Given the description of an element on the screen output the (x, y) to click on. 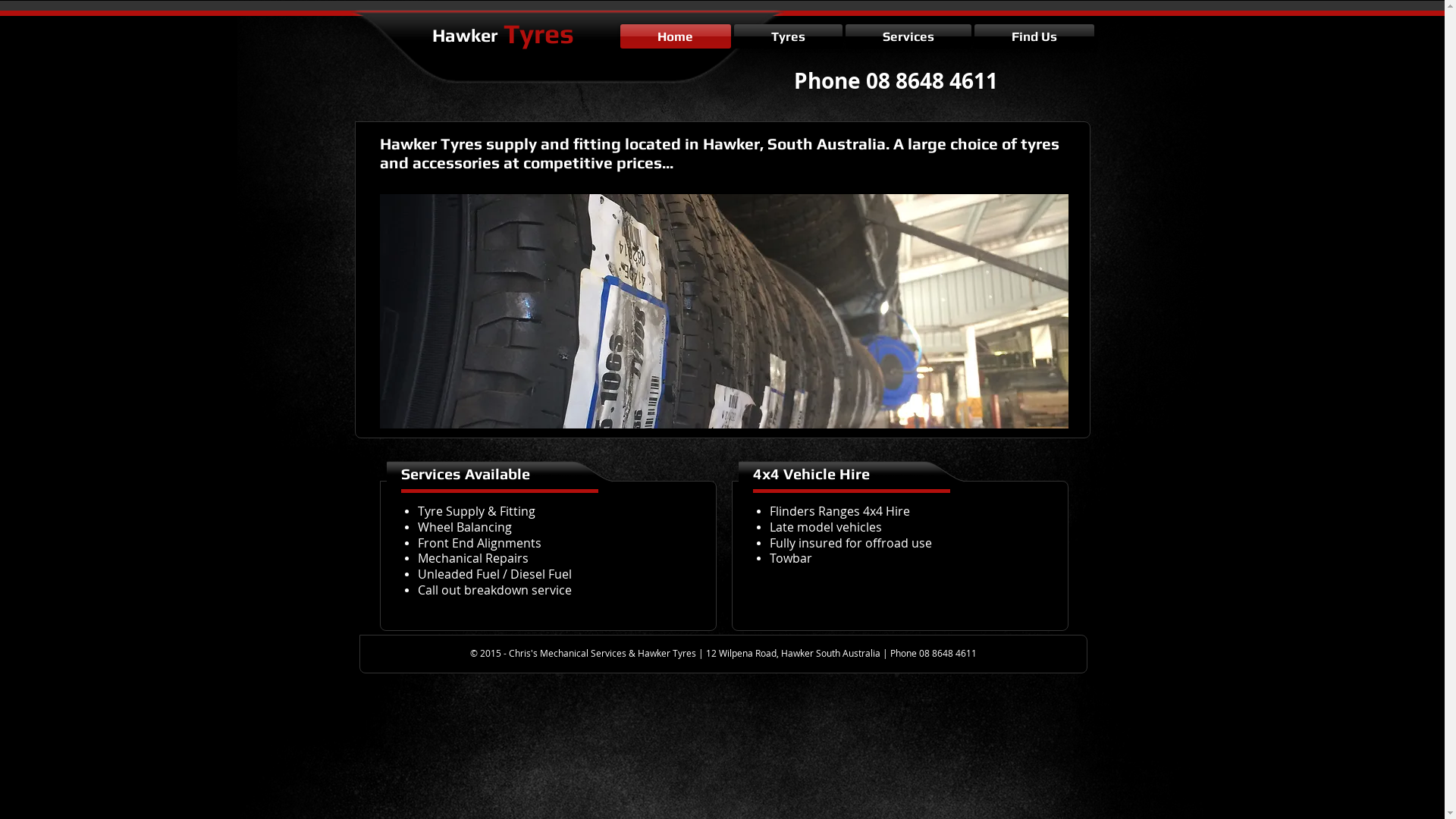
Tyres Element type: text (788, 36)
Services Element type: text (907, 36)
Home Element type: text (676, 36)
Find Us Element type: text (1032, 36)
